Given the description of an element on the screen output the (x, y) to click on. 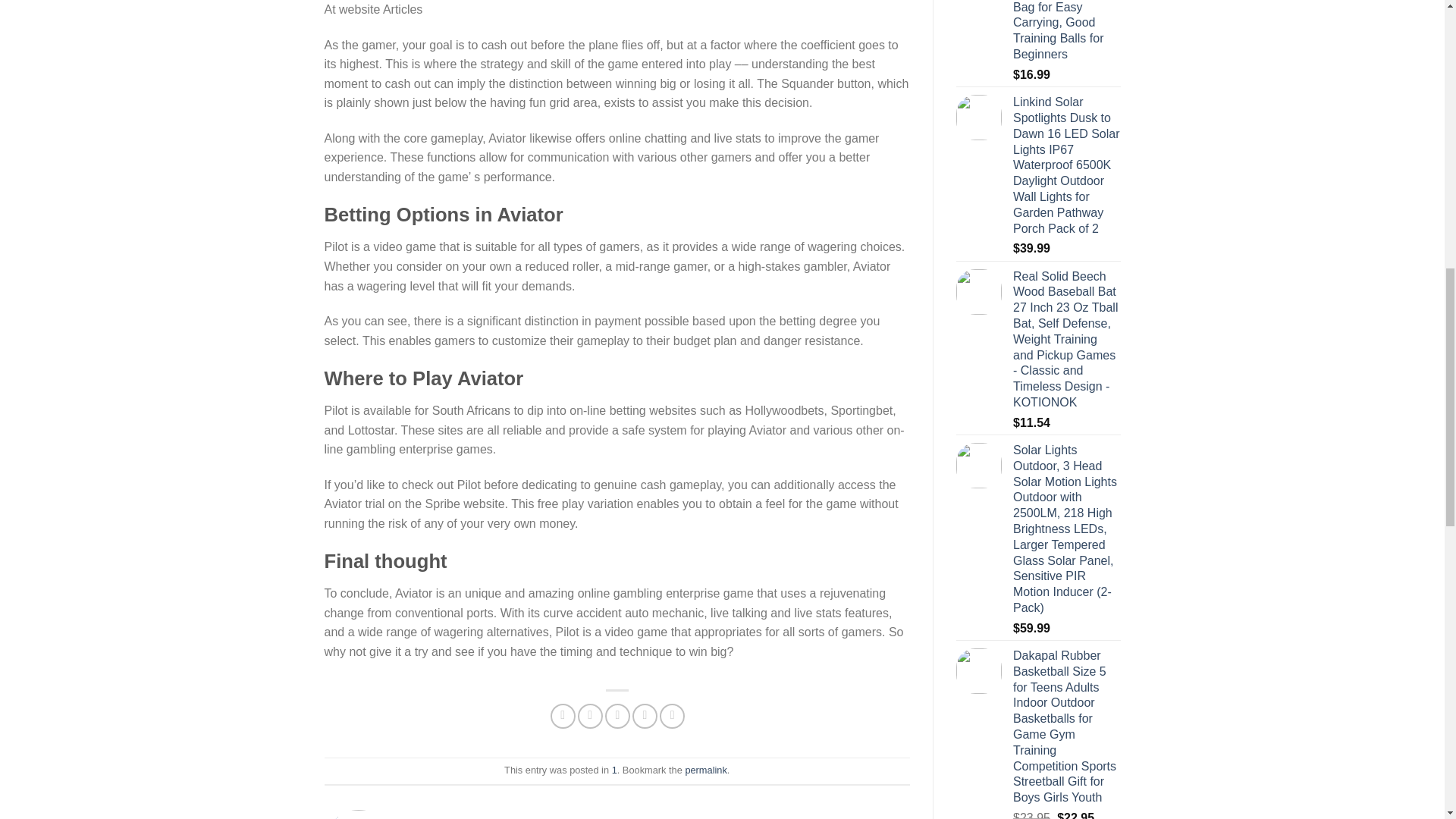
Pin on Pinterest (644, 715)
Share on LinkedIn (671, 715)
Share on Twitter (590, 715)
Email to a Friend (617, 715)
permalink (705, 769)
Share on Facebook (562, 715)
Permalink to Aviator Spribe Video Game Evaluation (705, 769)
